Given the description of an element on the screen output the (x, y) to click on. 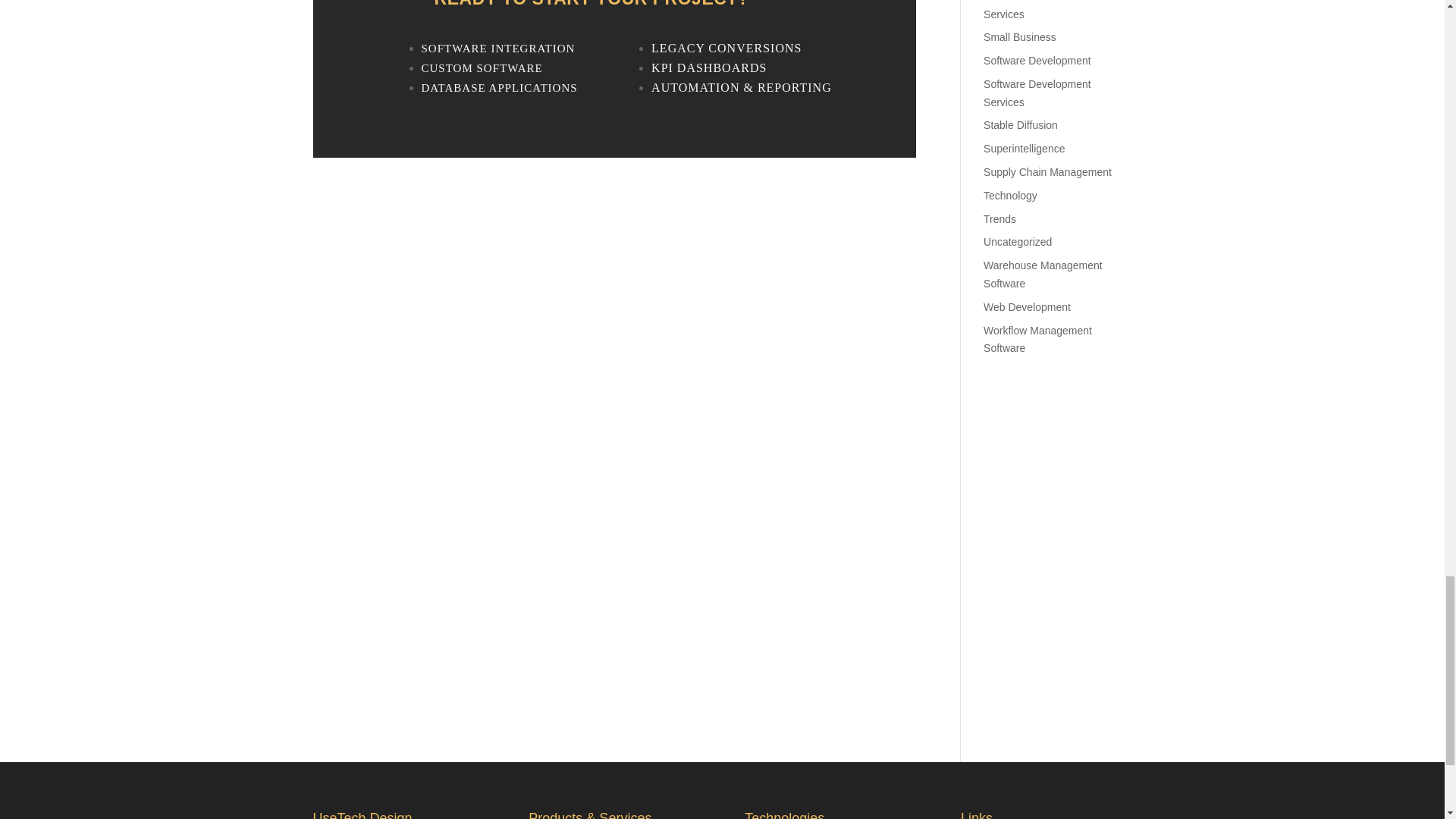
KPI DASHBOARDS (708, 67)
LEGACY CONVERSIONS (726, 47)
CUSTOM SOFTWARE (482, 67)
DATABASE APPLICATIONS (500, 87)
SOFTWARE INTEGRATION (498, 47)
